Given the description of an element on the screen output the (x, y) to click on. 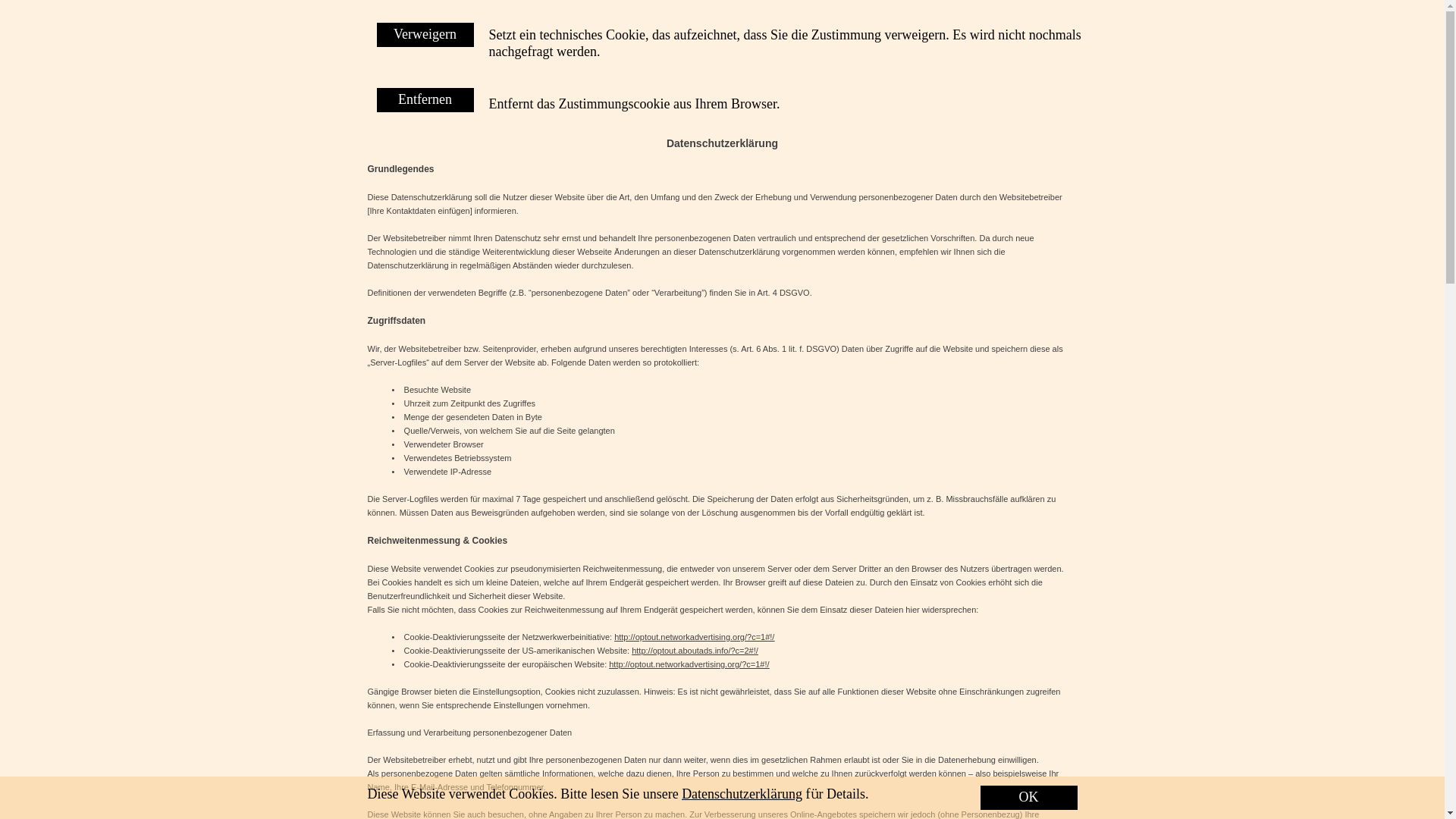
http://optout.networkadvertising.org/?c=1#!/ Element type: text (688, 663)
Verweigern Element type: text (424, 34)
Entfernen Element type: text (424, 99)
http://optout.networkadvertising.org/?c=1#!/ Element type: text (694, 636)
http://optout.aboutads.info/?c=2#!/ Element type: text (694, 650)
